Given the description of an element on the screen output the (x, y) to click on. 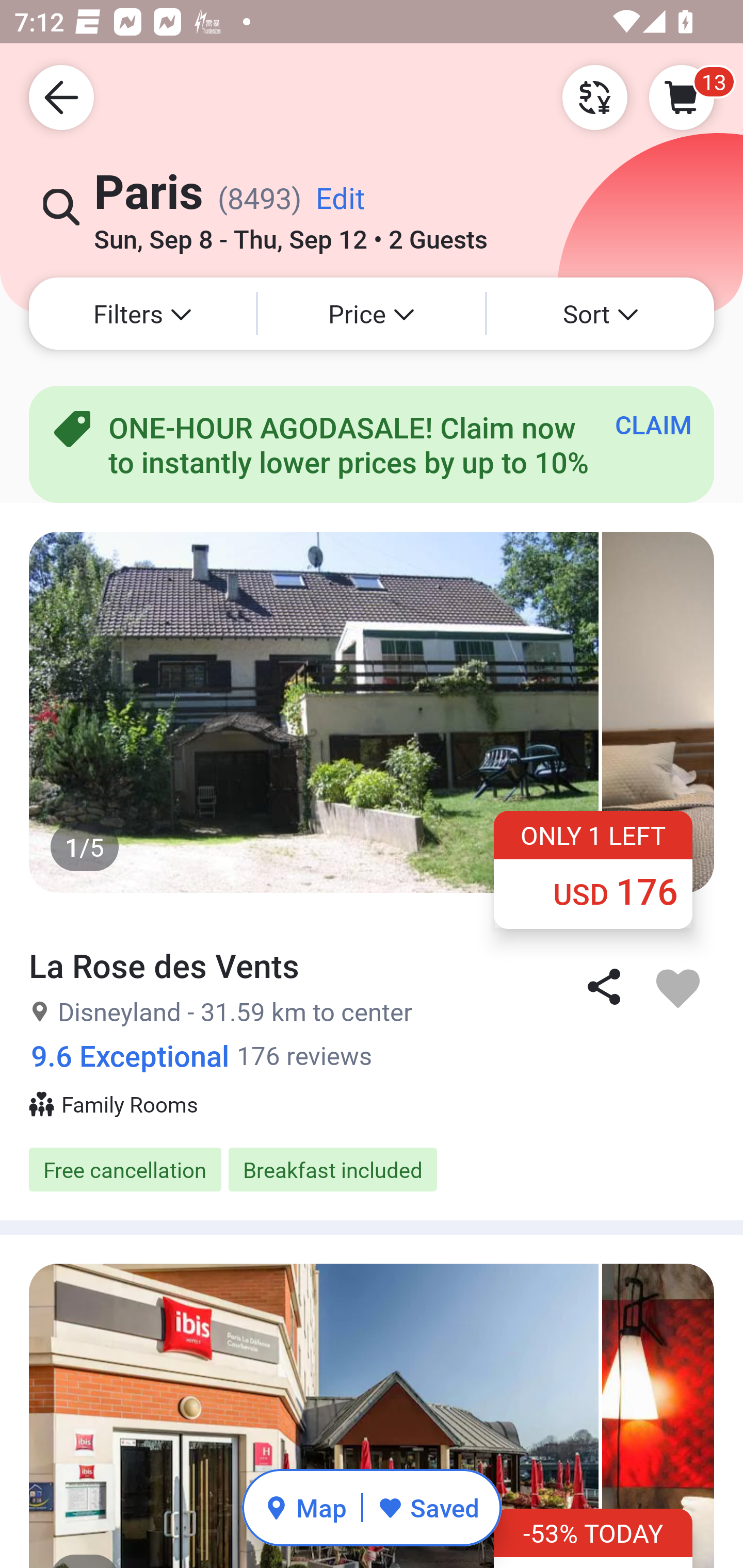
Filters (141, 313)
Price (371, 313)
Sort (600, 313)
CLAIM (653, 424)
1/5 (371, 711)
ONLY 1 LEFT ‪USD 176 (593, 869)
Free cancellation Breakfast included (371, 1169)
1/5 (371, 1415)
Map (305, 1507)
Saved (428, 1507)
-53% TODAY ‪USD 253 (593, 1538)
